Given the description of an element on the screen output the (x, y) to click on. 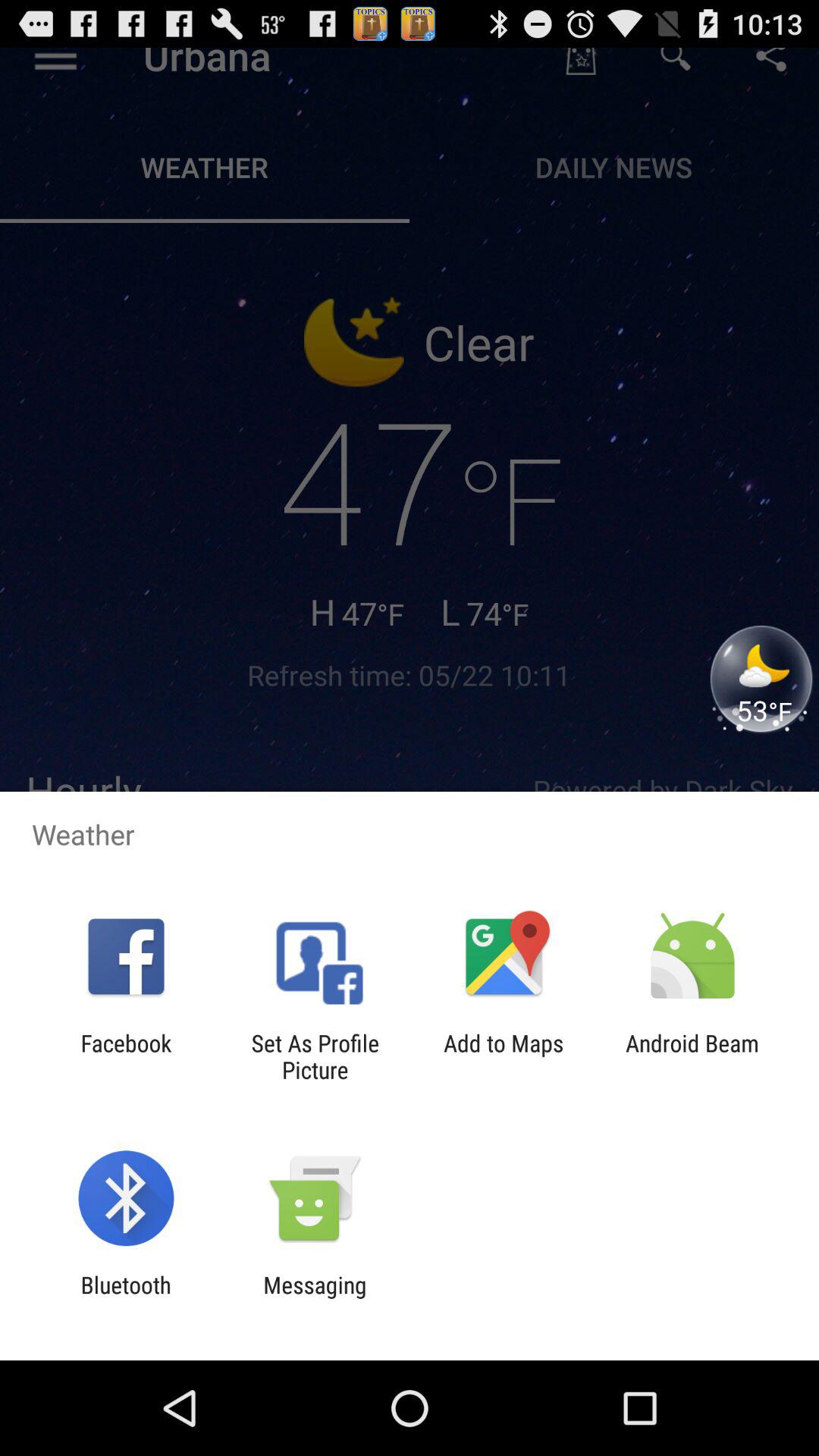
select the item to the left of messaging item (125, 1298)
